Given the description of an element on the screen output the (x, y) to click on. 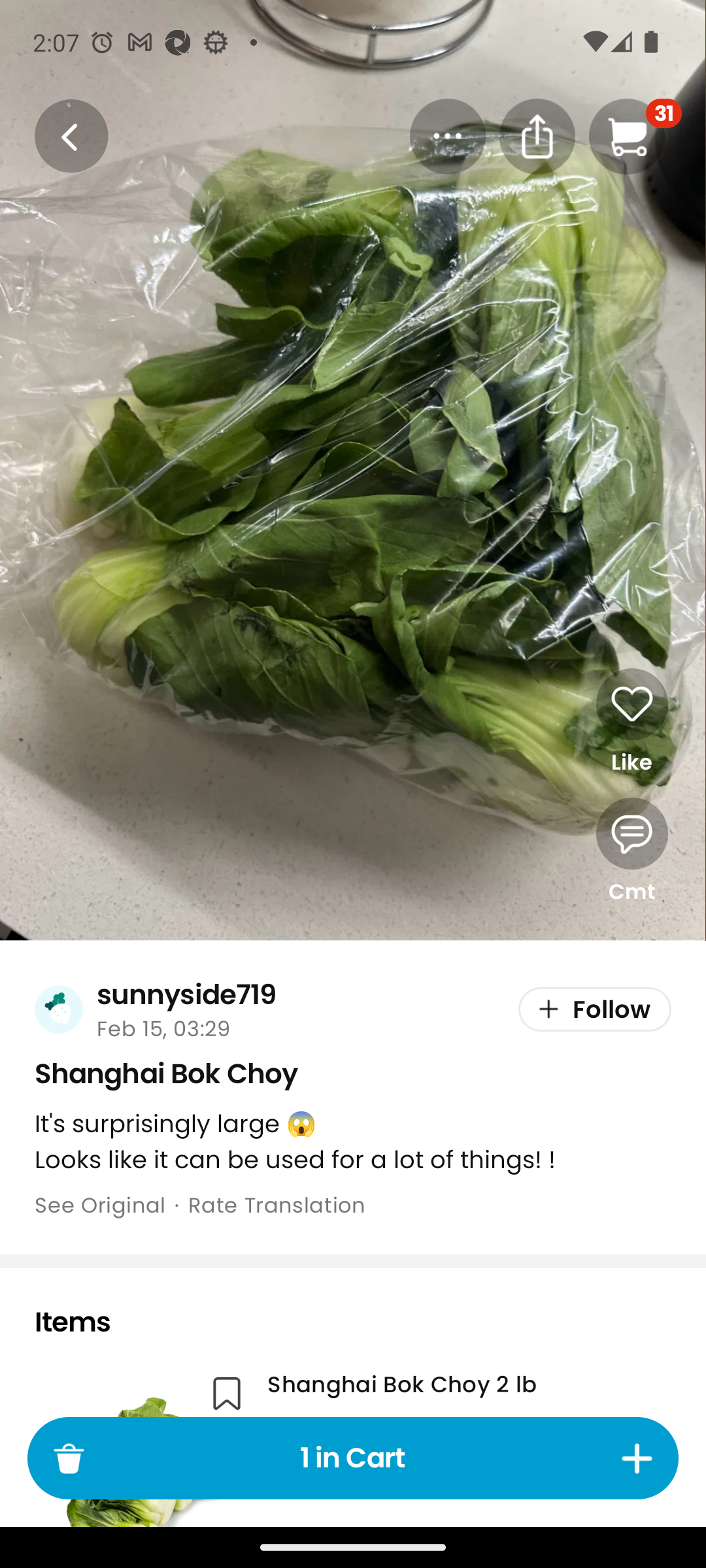
31 (634, 136)
Like (631, 721)
Cmt (631, 852)
sunnyside719 (186, 994)
Follow (594, 1009)
See Original (99, 1204)
Rate Translation (276, 1204)
1 in Cart (352, 1458)
